Given the description of an element on the screen output the (x, y) to click on. 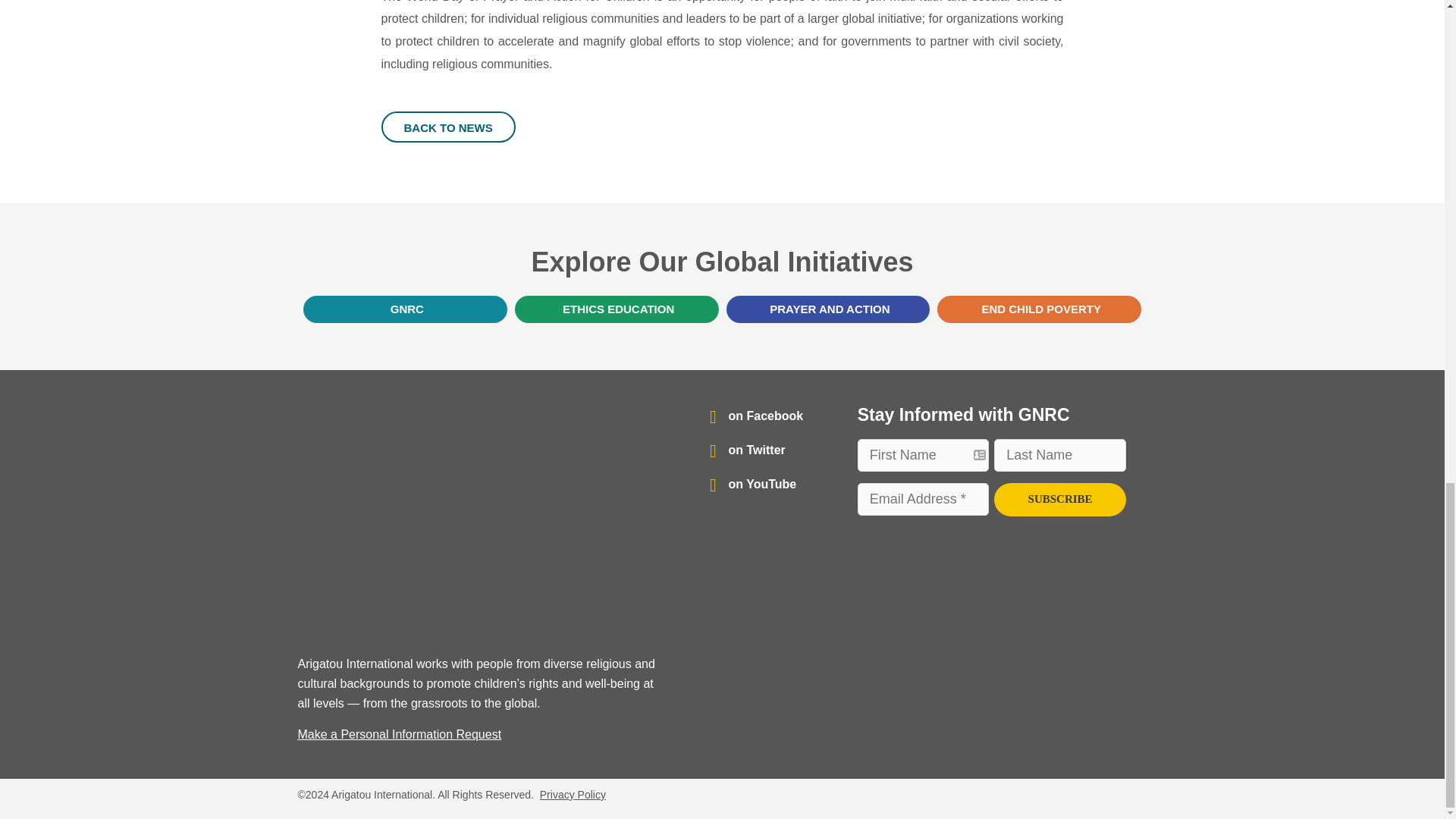
Last Name (1059, 454)
Subscribe (1059, 499)
First Name (923, 454)
